Given the description of an element on the screen output the (x, y) to click on. 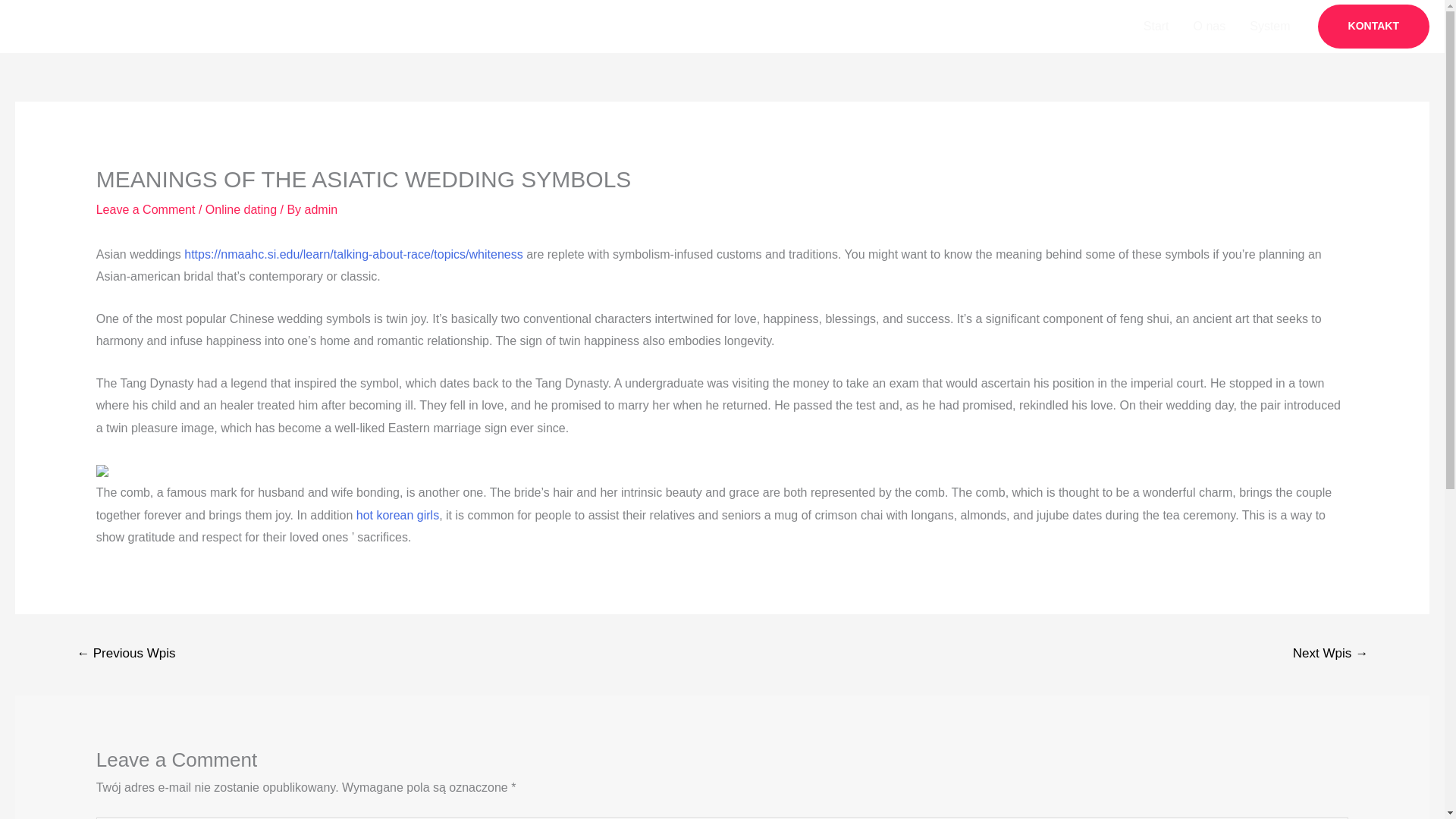
Online dating (240, 209)
admin (320, 209)
Leave a Comment (145, 209)
System (1269, 26)
KONTAKT (1373, 26)
View all posts by admin (320, 209)
Start (1155, 26)
O nas (1209, 26)
hot korean girls (397, 514)
